Given the description of an element on the screen output the (x, y) to click on. 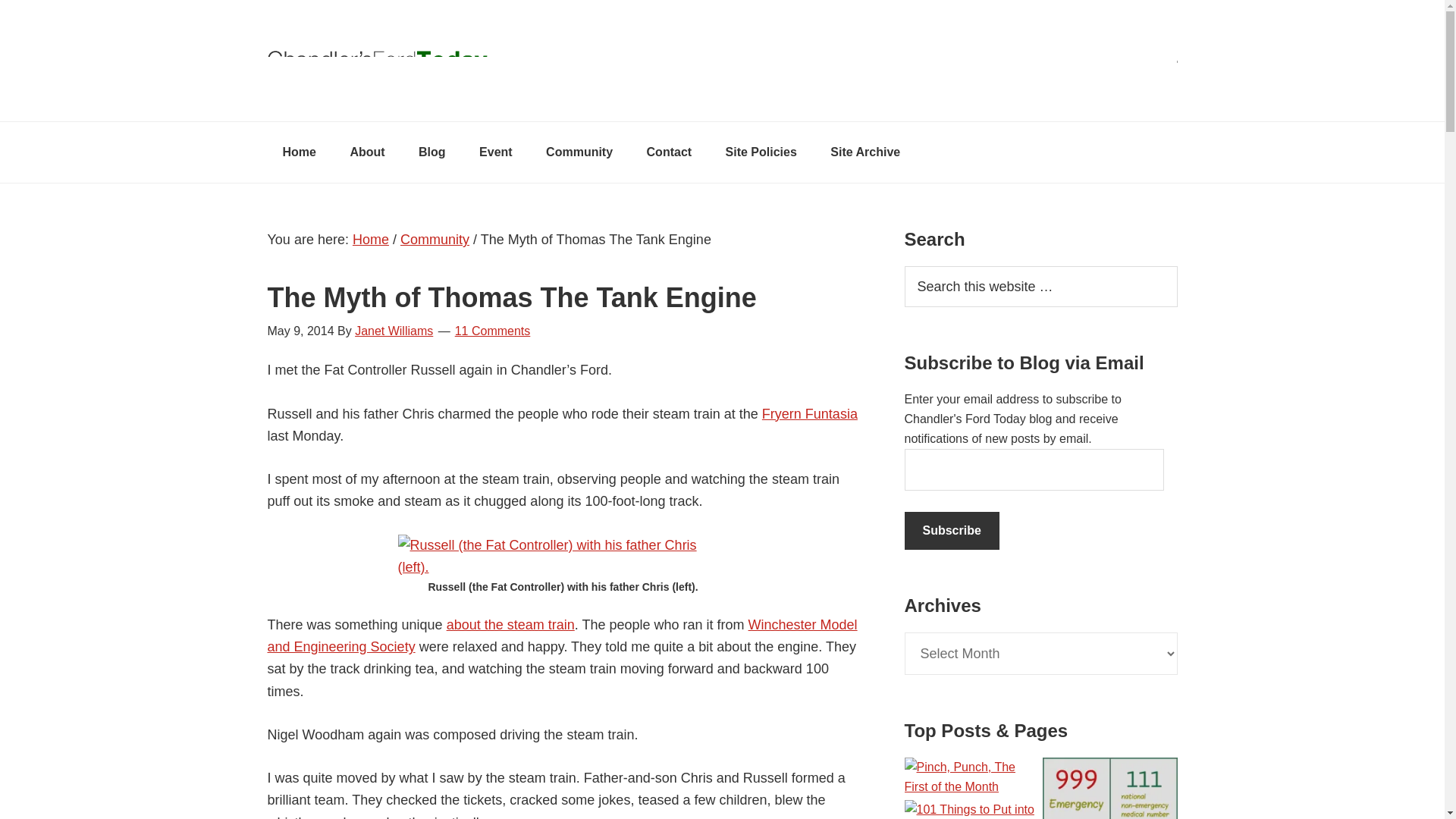
Janet Williams (393, 330)
Blog (432, 152)
11 Comments (492, 330)
Site Archive (865, 152)
Fryern Funtasia (809, 413)
Event (495, 152)
Community (434, 239)
About (366, 152)
about the steam train (510, 624)
